Given the description of an element on the screen output the (x, y) to click on. 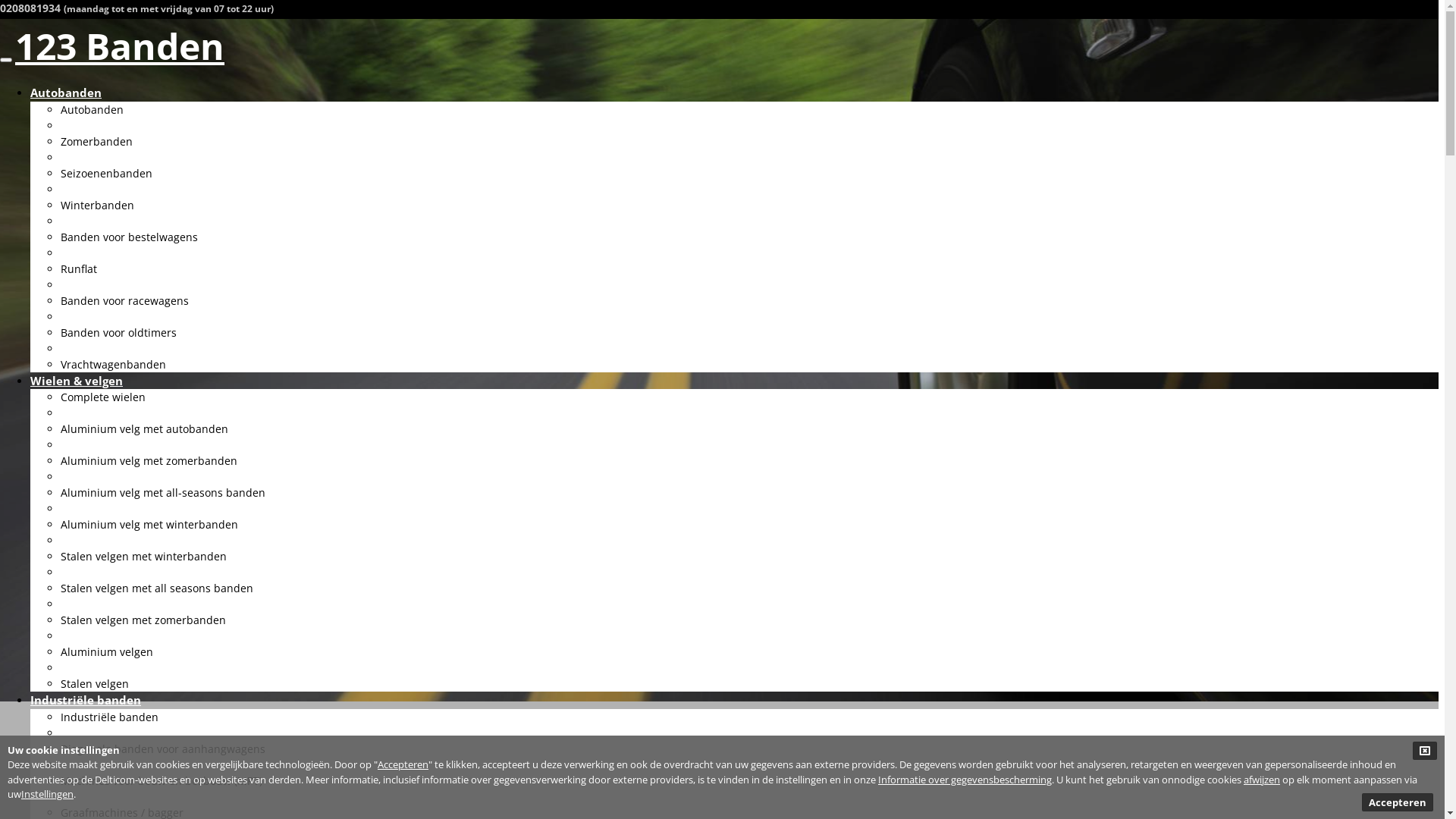
Winterbanden Element type: text (97, 204)
Aluminium velg met autobanden Element type: text (144, 428)
Wielen & velgen Element type: text (76, 380)
Stalen velgen met winterbanden Element type: text (143, 556)
Autobanden Element type: text (91, 108)
Instellingen Element type: text (47, 793)
Accepteren Element type: text (402, 764)
Aluminium velg met winterbanden Element type: text (149, 524)
Toggle navigation Element type: text (6, 59)
Informatie over gegevensbescherming Element type: text (964, 778)
Machines voor bouw en bosbouw (MPT) Element type: text (161, 780)
Seizoenenbanden Element type: text (106, 172)
Aluminium velg met all-seasons banden Element type: text (162, 492)
Runflat Element type: text (78, 267)
Aluminium velgen Element type: text (106, 651)
afwijzen Element type: text (1261, 778)
Stalen velgen met all seasons banden Element type: text (156, 587)
123 Banden Element type: text (119, 45)
Banden voor racewagens Element type: text (124, 299)
Complete wielen Element type: text (102, 396)
Zomerbanden Element type: text (96, 140)
Stalen velgen Element type: text (94, 683)
Aluminium velg met zomerbanden Element type: text (148, 460)
Autobanden Element type: text (65, 92)
Banden voor bestelwagens Element type: text (128, 236)
Banden voor oldtimers Element type: text (118, 331)
Vrachtwagenbanden Element type: text (113, 363)
Diagonale banden voor aanhangwagens Element type: text (162, 748)
Accepteren Element type: text (1397, 802)
Stalen velgen met zomerbanden Element type: text (142, 619)
